Given the description of an element on the screen output the (x, y) to click on. 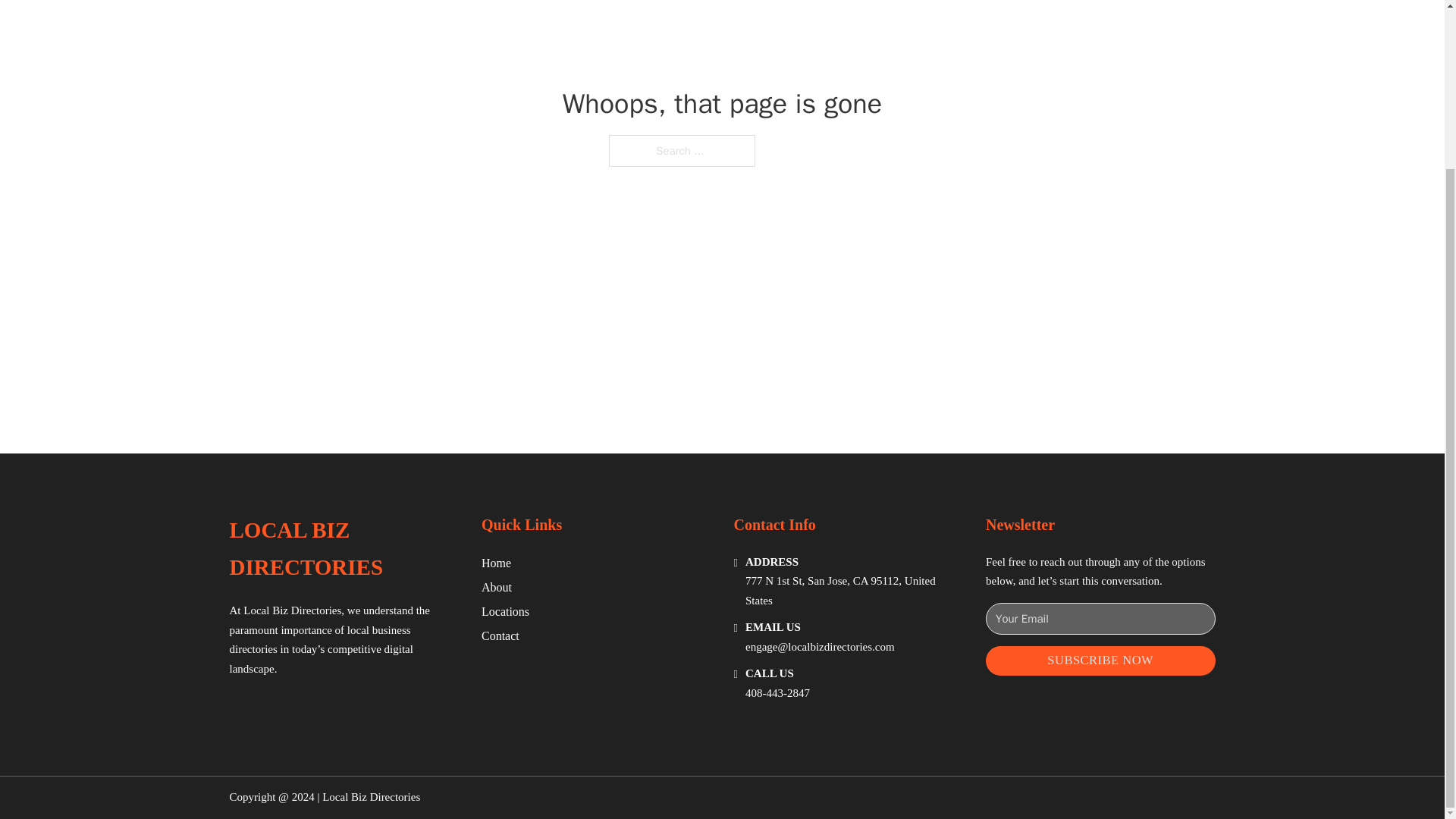
SUBSCRIBE NOW (1100, 660)
LOCAL BIZ DIRECTORIES (343, 549)
Locations (505, 611)
About (496, 587)
Contact (500, 635)
408-443-2847 (777, 693)
Home (496, 562)
